Given the description of an element on the screen output the (x, y) to click on. 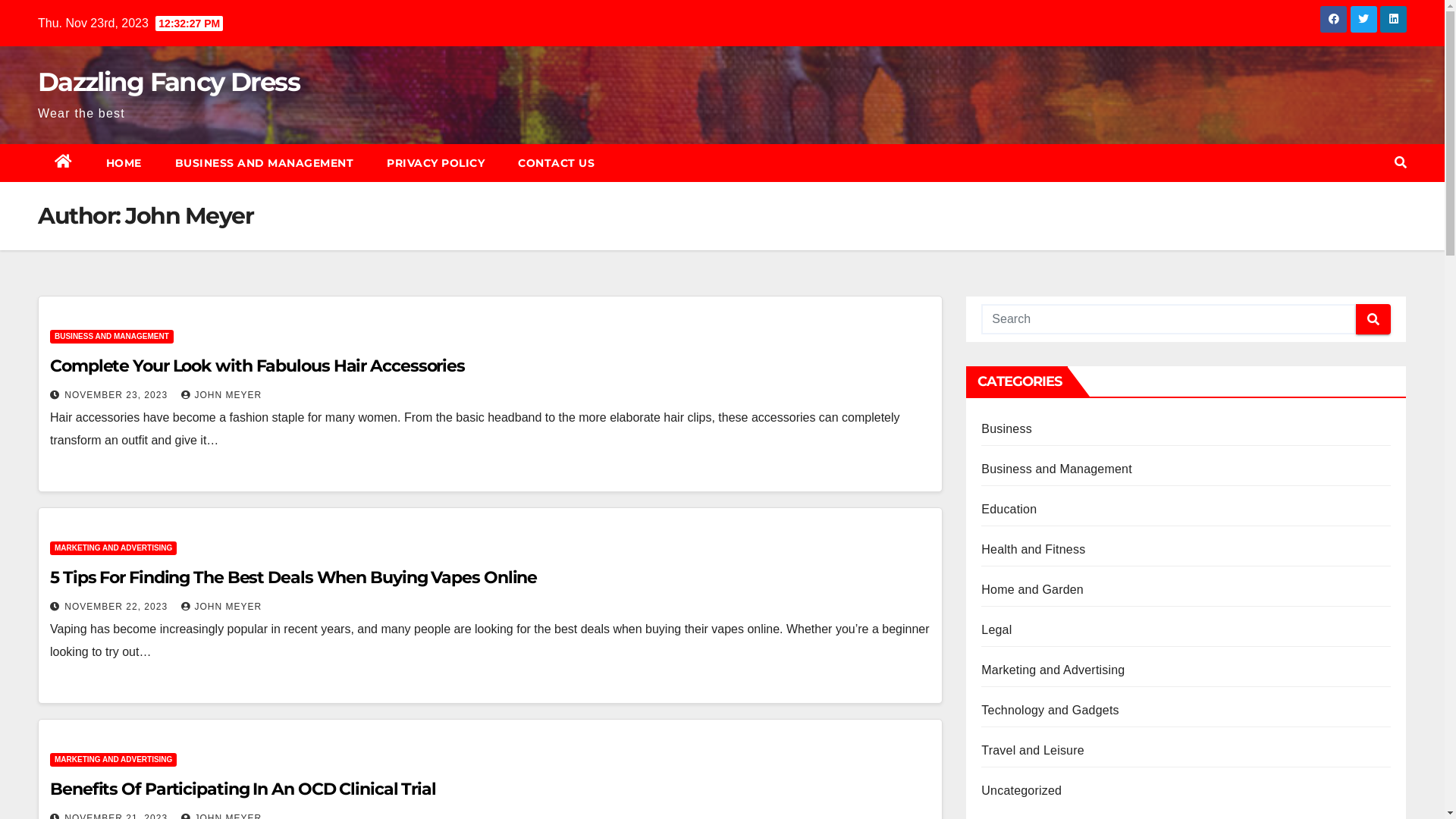
MARKETING AND ADVERTISING Element type: text (113, 548)
JOHN MEYER Element type: text (221, 394)
Complete Your Look with Fabulous Hair Accessories Element type: text (257, 365)
Business Element type: text (1006, 428)
Education Element type: text (1008, 508)
MARKETING AND ADVERTISING Element type: text (113, 759)
JOHN MEYER Element type: text (221, 606)
Uncategorized Element type: text (1021, 790)
BUSINESS AND MANAGEMENT Element type: text (111, 336)
Marketing and Advertising Element type: text (1052, 669)
Legal Element type: text (996, 629)
BUSINESS AND MANAGEMENT Element type: text (263, 163)
5 Tips For Finding The Best Deals When Buying Vapes Online Element type: text (293, 577)
Dazzling Fancy Dress Element type: text (168, 81)
PRIVACY POLICY Element type: text (435, 163)
Technology and Gadgets Element type: text (1049, 709)
Health and Fitness Element type: text (1033, 548)
Benefits Of Participating In An OCD Clinical Trial Element type: text (243, 788)
CONTACT US Element type: text (556, 163)
NOVEMBER 22, 2023 Element type: text (117, 606)
HOME Element type: text (123, 163)
Home and Garden Element type: text (1032, 589)
NOVEMBER 23, 2023 Element type: text (117, 394)
Travel and Leisure Element type: text (1032, 749)
Business and Management Element type: text (1056, 468)
